Given the description of an element on the screen output the (x, y) to click on. 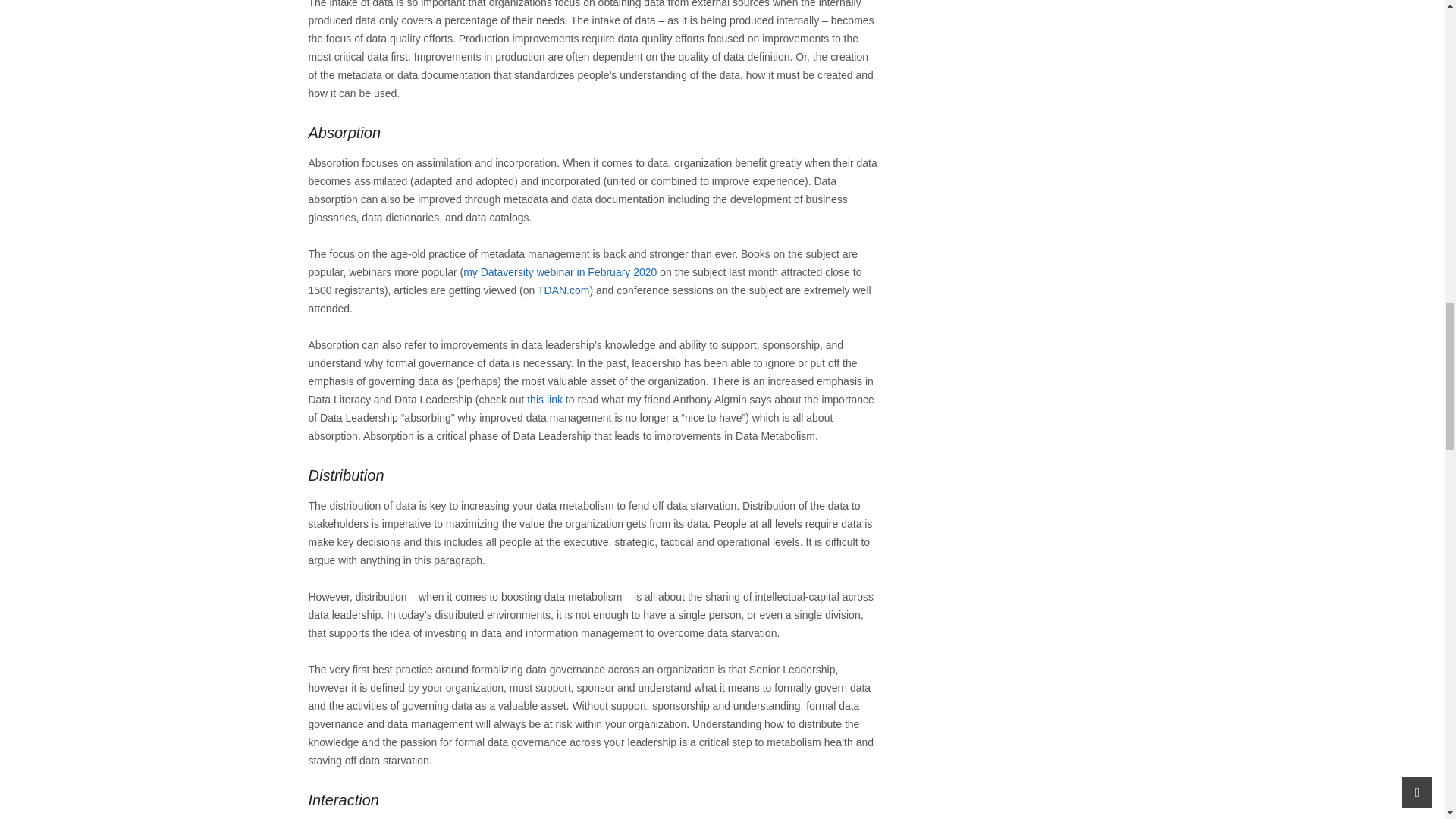
my Dataversity webinar in February 2020 (559, 272)
this link (544, 399)
TDAN.com (563, 290)
